Given the description of an element on the screen output the (x, y) to click on. 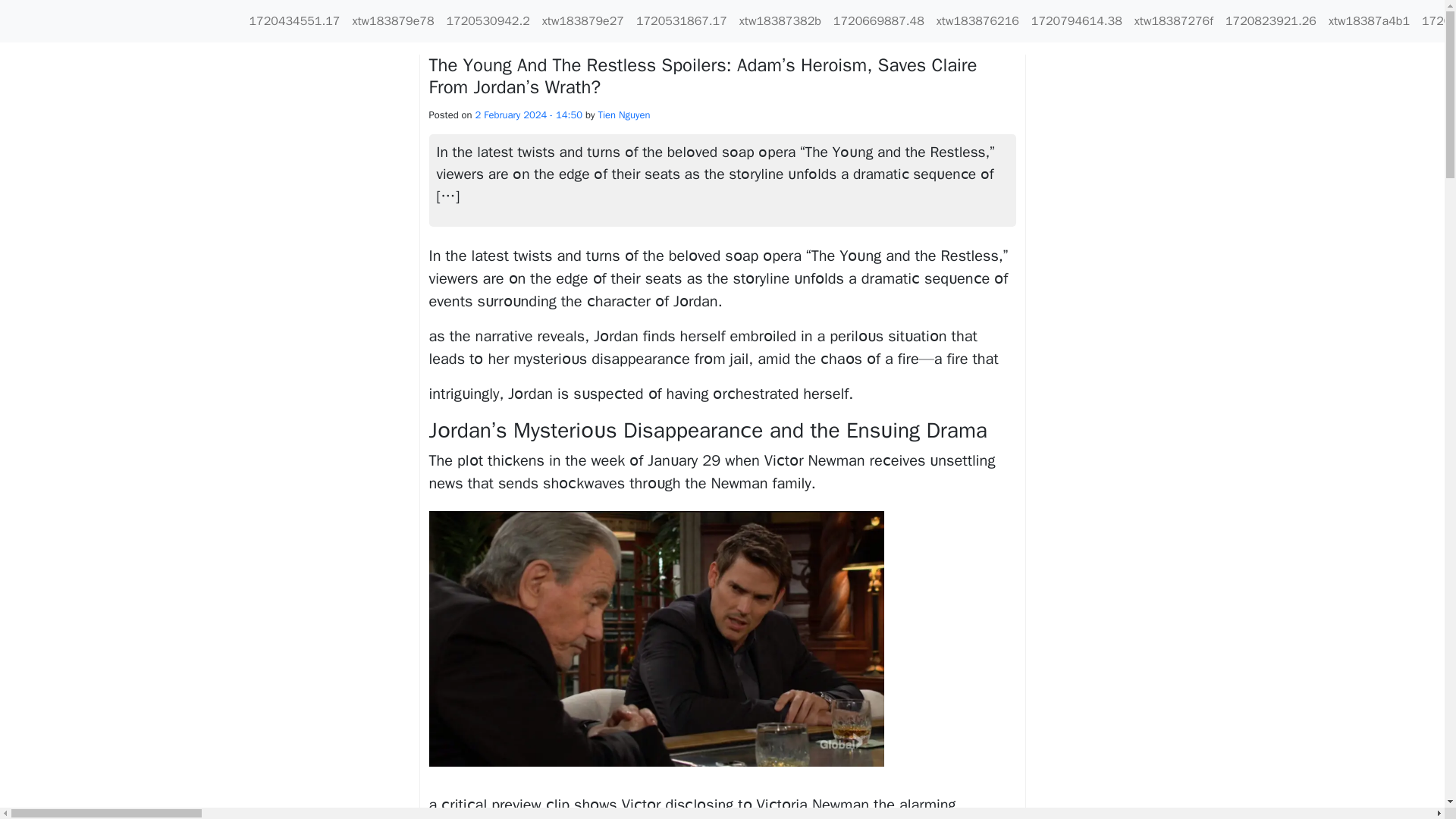
xtw183879e78 (392, 20)
xtw183879e78 (392, 20)
xtw18387276f (1174, 20)
1720434551.17 (294, 20)
1720669887.48 (878, 20)
1720434551.17 (294, 20)
xtw183879e27 (582, 20)
xtw183879e27 (582, 20)
xtw183876216 (977, 20)
1720823921.26 (1271, 20)
